Given the description of an element on the screen output the (x, y) to click on. 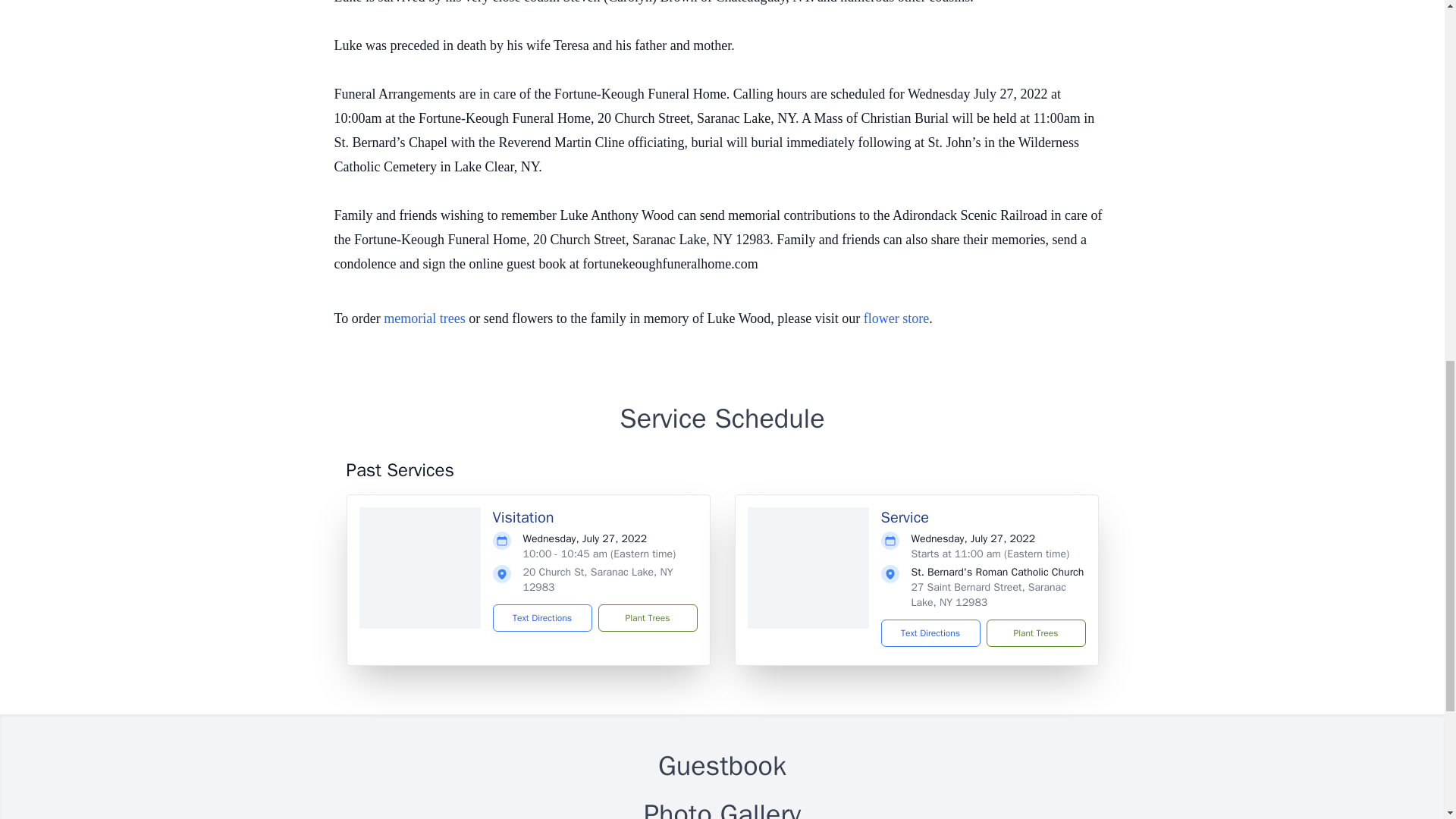
27 Saint Bernard Street, Saranac Lake, NY 12983 (988, 594)
Text Directions (929, 633)
Plant Trees (1034, 633)
flower store (895, 318)
Plant Trees (646, 617)
Text Directions (542, 617)
20 Church St, Saranac Lake, NY 12983 (597, 579)
memorial trees (424, 318)
